Given the description of an element on the screen output the (x, y) to click on. 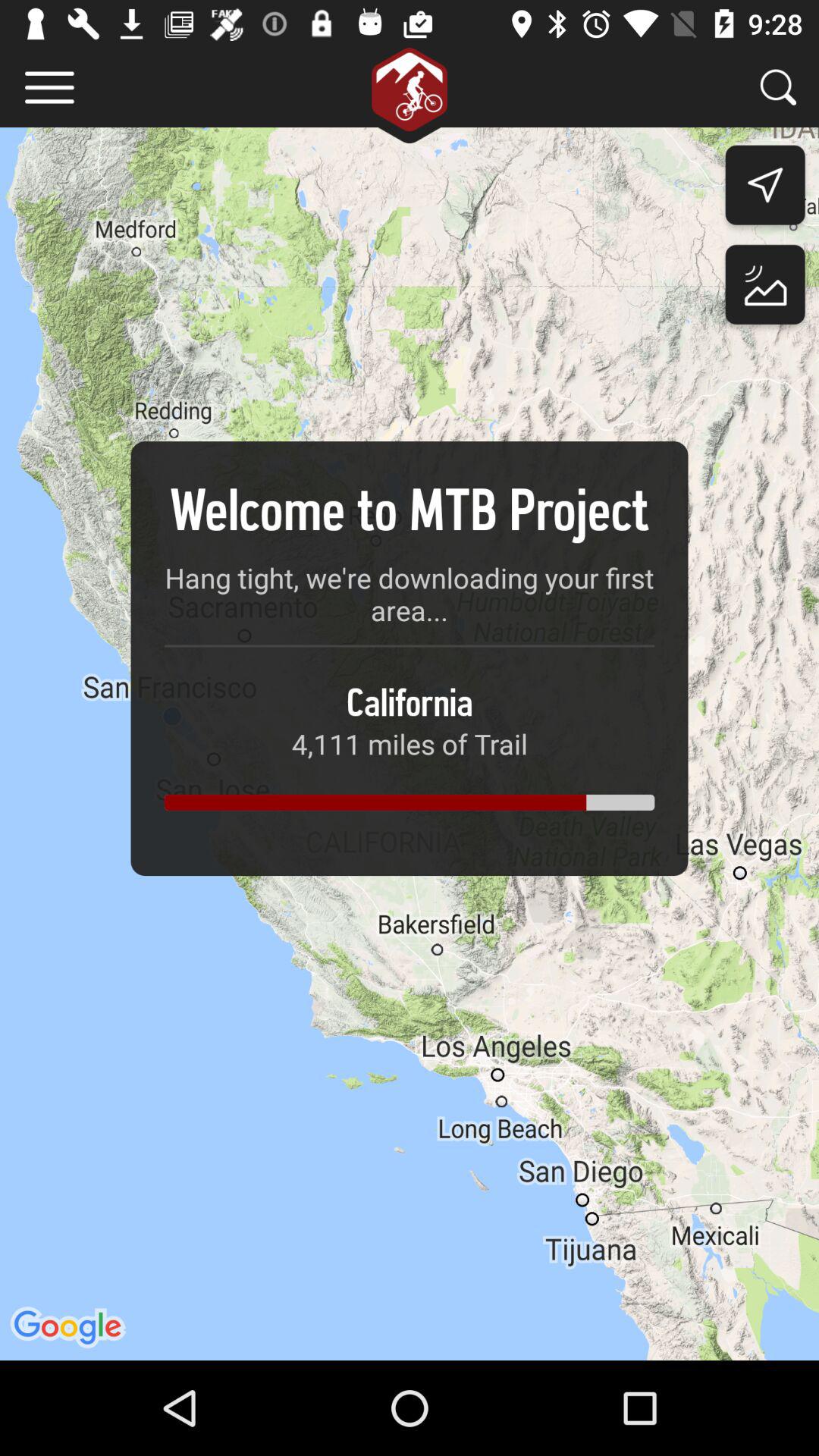
change options (49, 87)
